Given the description of an element on the screen output the (x, y) to click on. 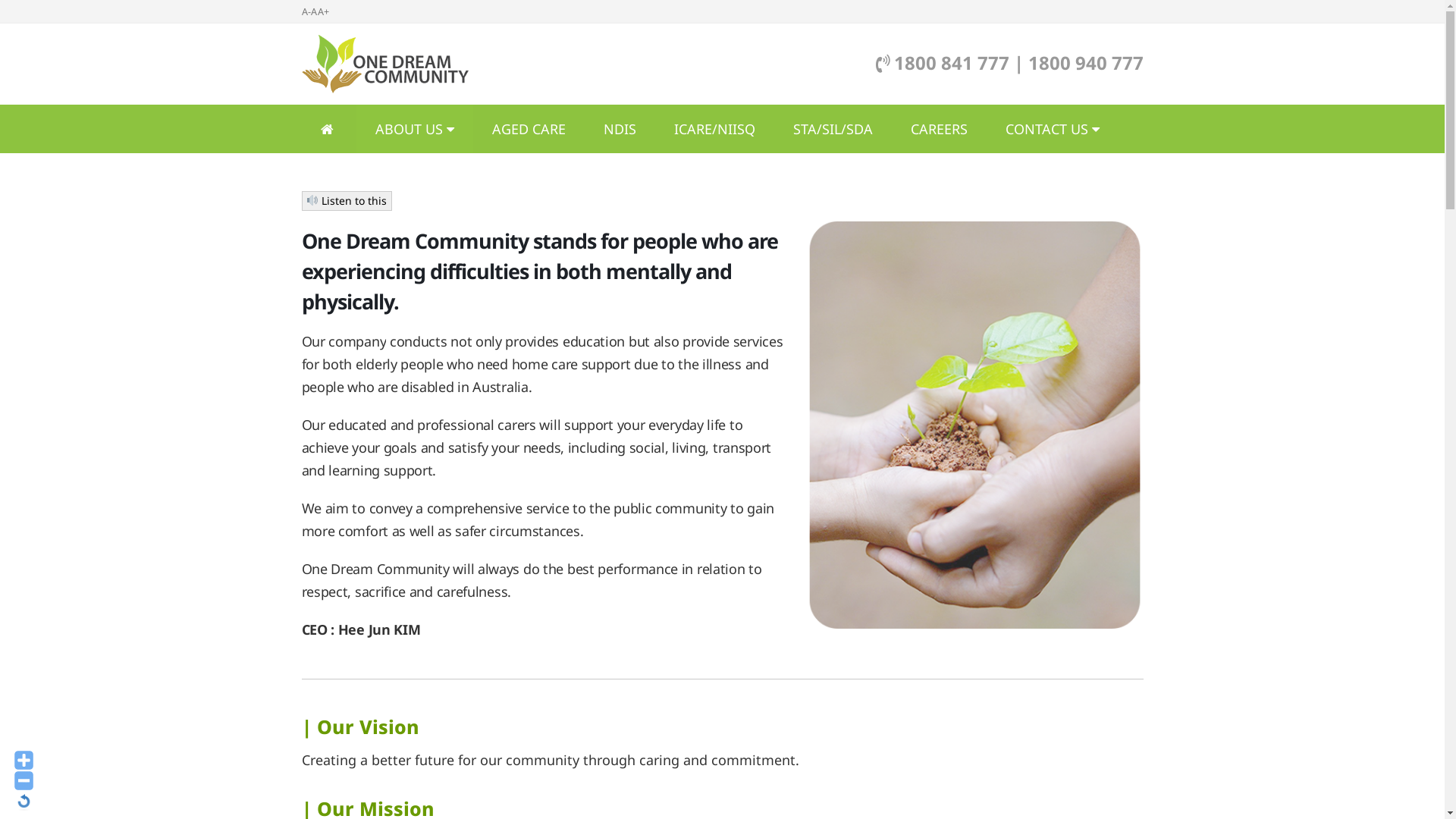
CONTACT US Element type: text (1051, 128)
ICARE/NIISQ Element type: text (714, 128)
Listen to this Element type: text (346, 200)
Increase font size Element type: hover (23, 759)
CAREERS Element type: text (938, 128)
NDIS Element type: text (618, 128)
ABOUT US Element type: text (414, 128)
AGED CARE Element type: text (528, 128)
STA/SIL/SDA Element type: text (832, 128)
Decrease font size Element type: hover (23, 780)
Default font size Element type: hover (23, 800)
